Given the description of an element on the screen output the (x, y) to click on. 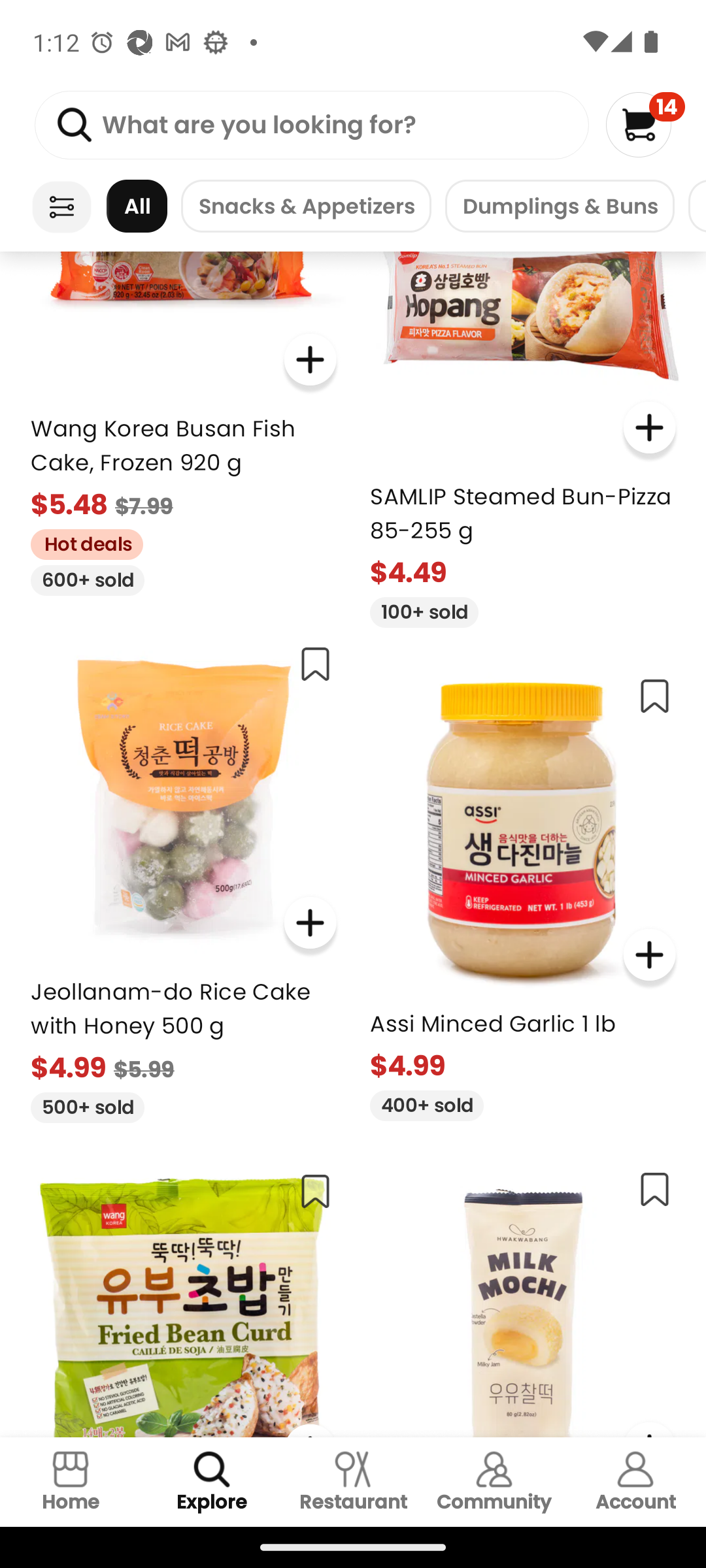
What are you looking for? (311, 124)
14 (644, 124)
All (136, 206)
Snacks & Appetizers (305, 206)
Dumplings & Buns (559, 206)
SAMLIP Steamed Bun-Pizza 85-255 g $4.49 100+ sold (522, 438)
Hot deals (79, 541)
Assi Minced Garlic 1 lb $4.99 400+ sold (522, 891)
Home (70, 1482)
Explore (211, 1482)
Restaurant (352, 1482)
Community (493, 1482)
Account (635, 1482)
